Given the description of an element on the screen output the (x, y) to click on. 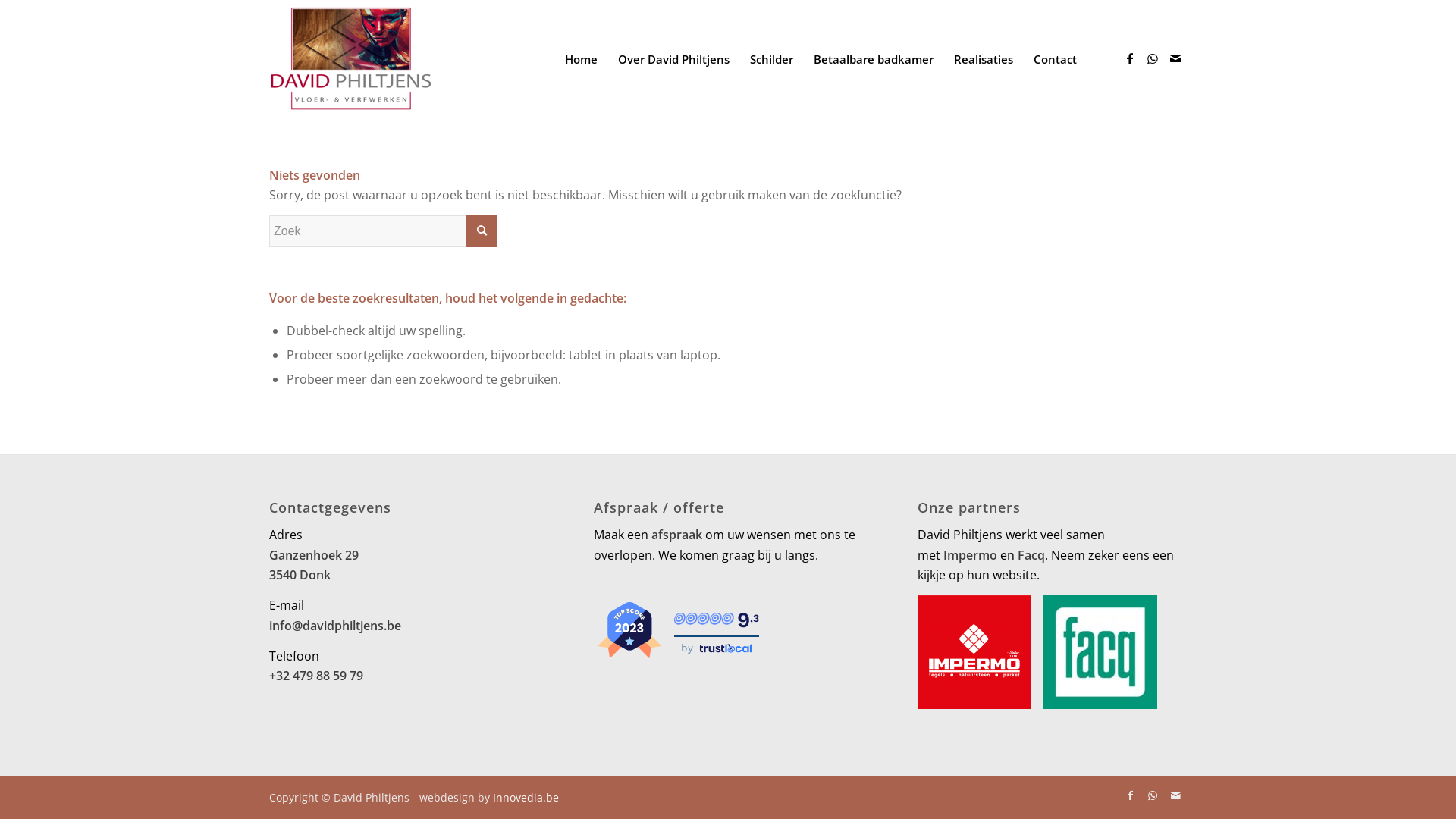
Home Element type: text (581, 59)
Facebook Element type: hover (1129, 795)
logo-davidphiltjens-v1 Element type: hover (350, 59)
Facebook Element type: hover (1129, 58)
afspraak Element type: text (676, 534)
Facq Element type: text (1030, 554)
Over David Philtjens Element type: text (673, 59)
Contact Element type: text (1054, 59)
Impermo Element type: text (970, 554)
WhatsApp Element type: hover (1152, 58)
+32 479 88 59 79 Element type: text (316, 675)
Mail Element type: hover (1175, 58)
Schilder Element type: text (771, 59)
Mail Element type: hover (1175, 795)
Realisaties Element type: text (982, 59)
Betaalbare badkamer Element type: text (873, 59)
Innovedia.be Element type: text (525, 797)
info@davidphiltjens.be Element type: text (335, 625)
WhatsApp Element type: hover (1152, 795)
